Given the description of an element on the screen output the (x, y) to click on. 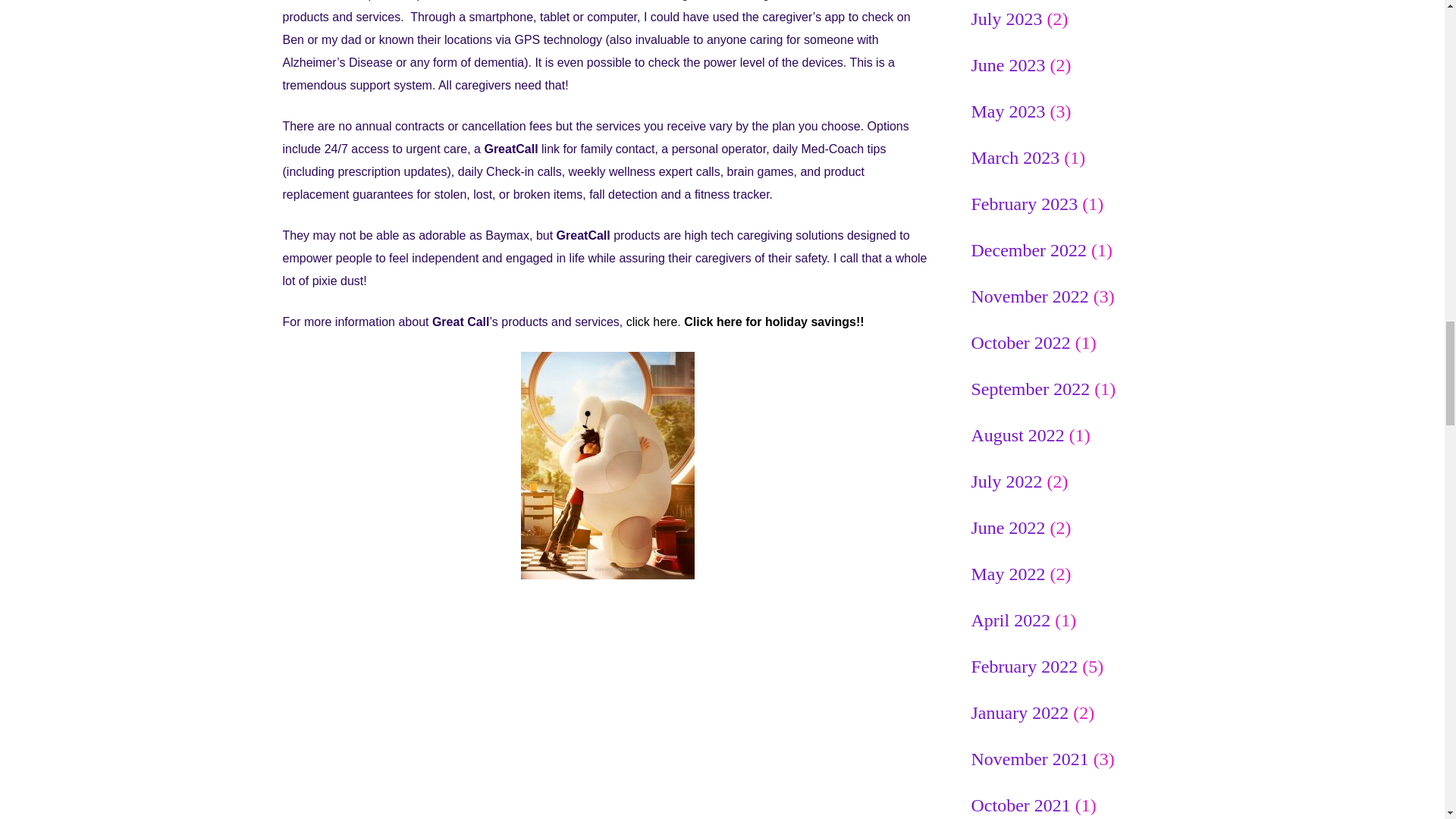
click here (652, 321)
Click here for holiday savings!! (773, 321)
